Given the description of an element on the screen output the (x, y) to click on. 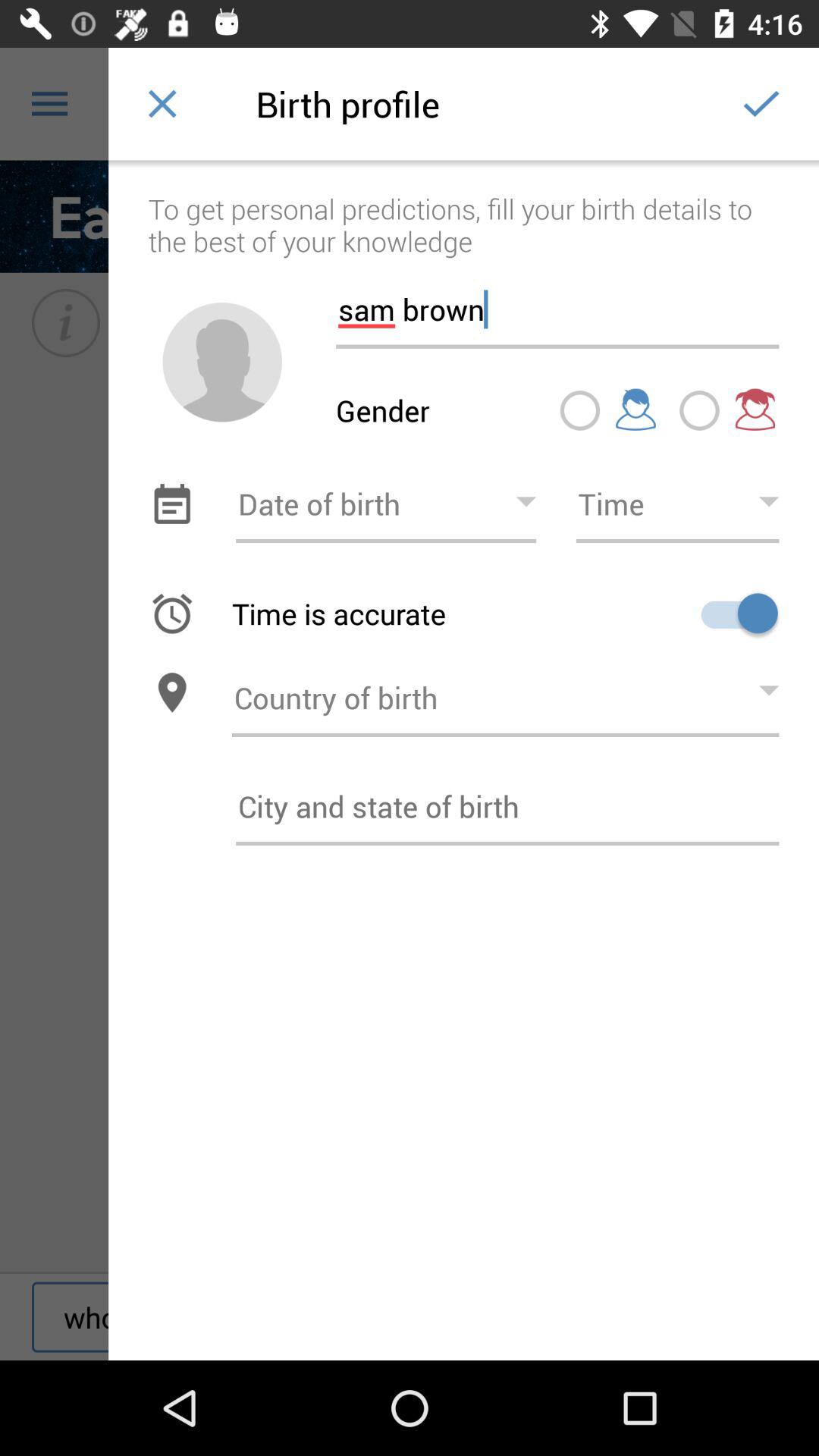
select time (677, 503)
